Given the description of an element on the screen output the (x, y) to click on. 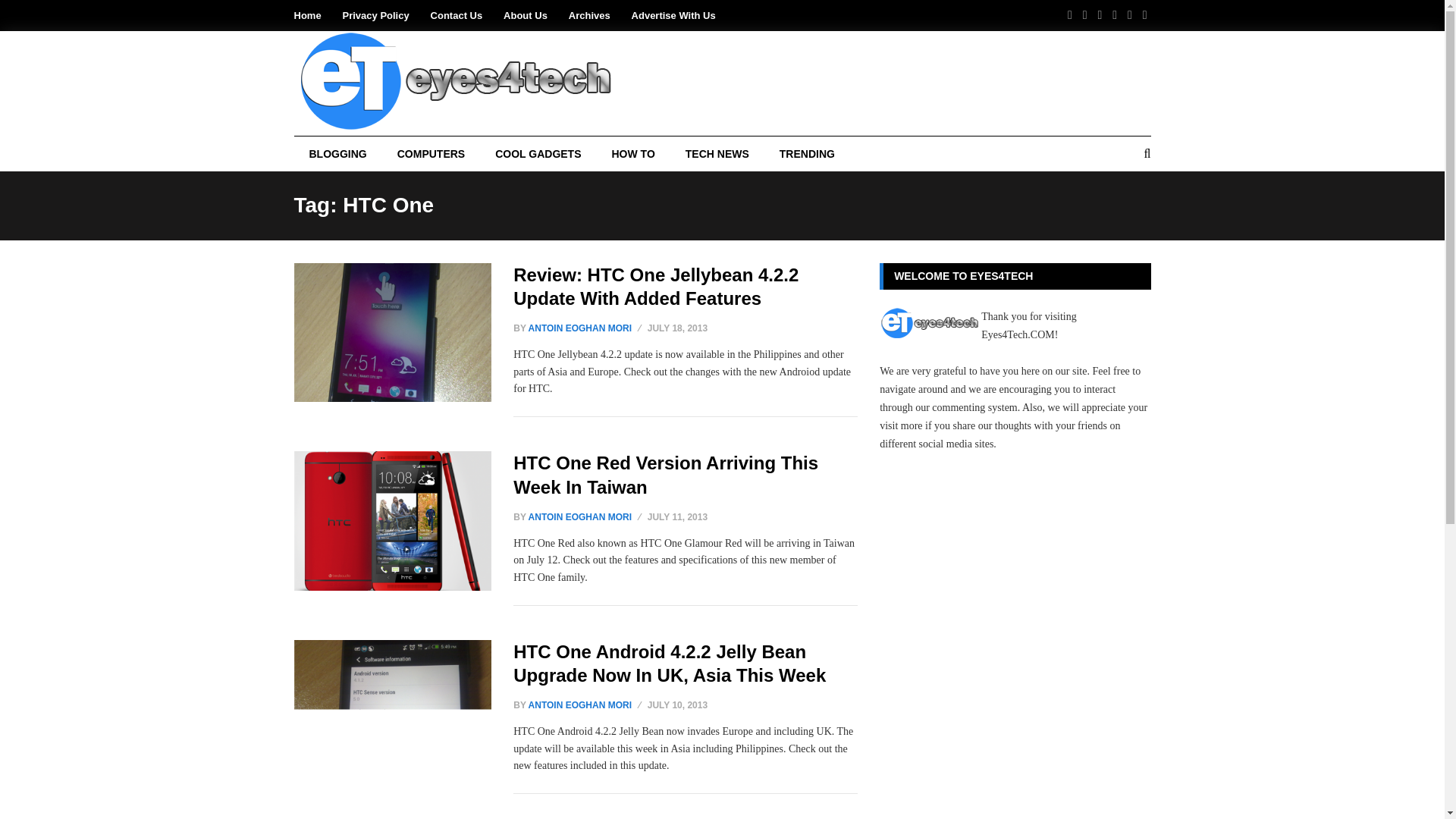
Advertise With Us (673, 15)
All about blogging (337, 153)
Thursday, July 18, 2013, 10:53 am (677, 327)
Archives (589, 15)
Wednesday, July 10, 2013, 9:19 am (677, 705)
Thursday, July 11, 2013, 1:18 am (677, 516)
